Given the description of an element on the screen output the (x, y) to click on. 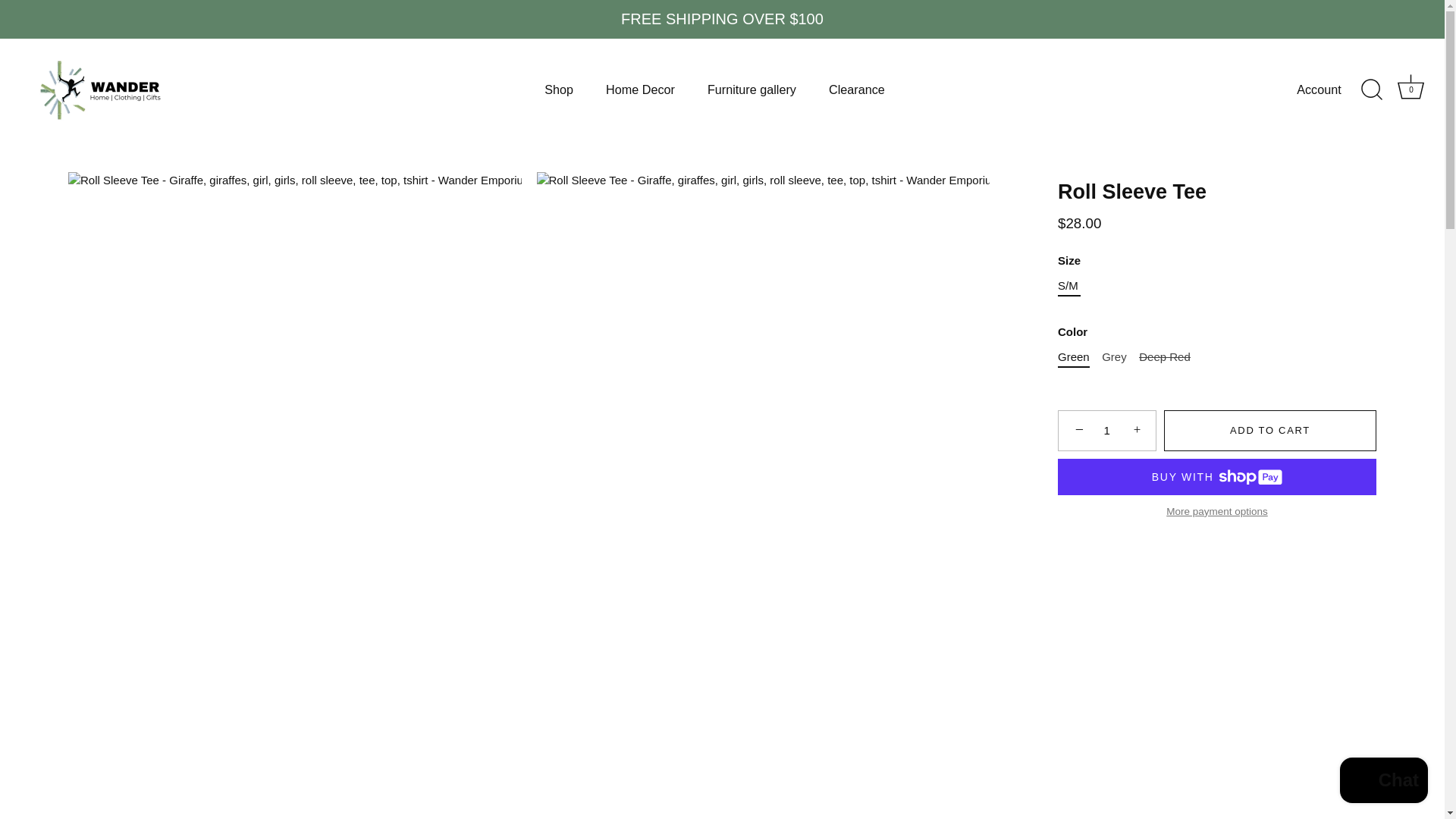
Furniture gallery (751, 89)
Shop (558, 89)
Cart (1410, 85)
Home Decor (640, 89)
Shopify online store chat (1383, 781)
